Given the description of an element on the screen output the (x, y) to click on. 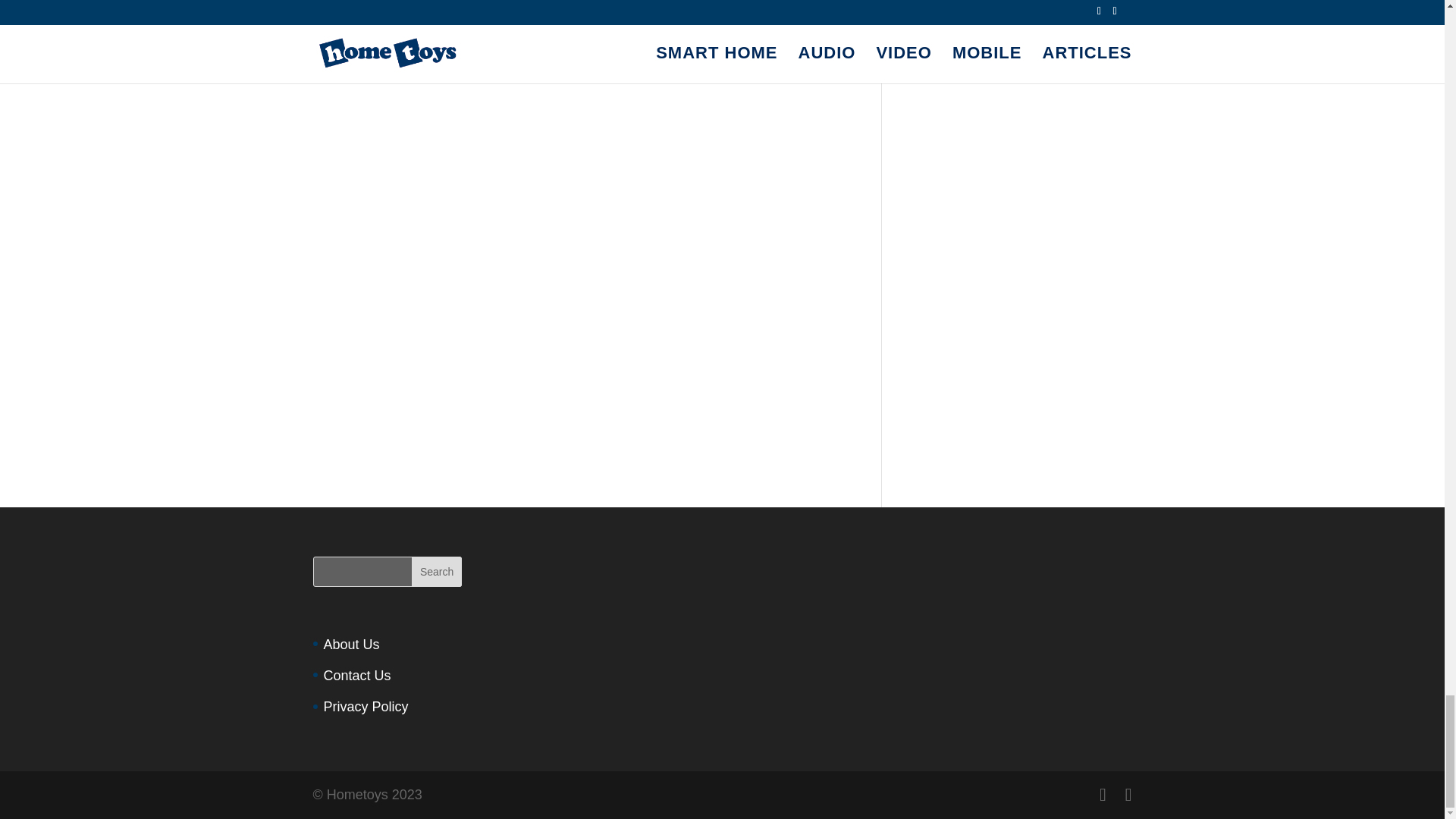
Privacy Policy (365, 706)
About Us (350, 644)
Search (436, 571)
Contact Us (356, 675)
